Given the description of an element on the screen output the (x, y) to click on. 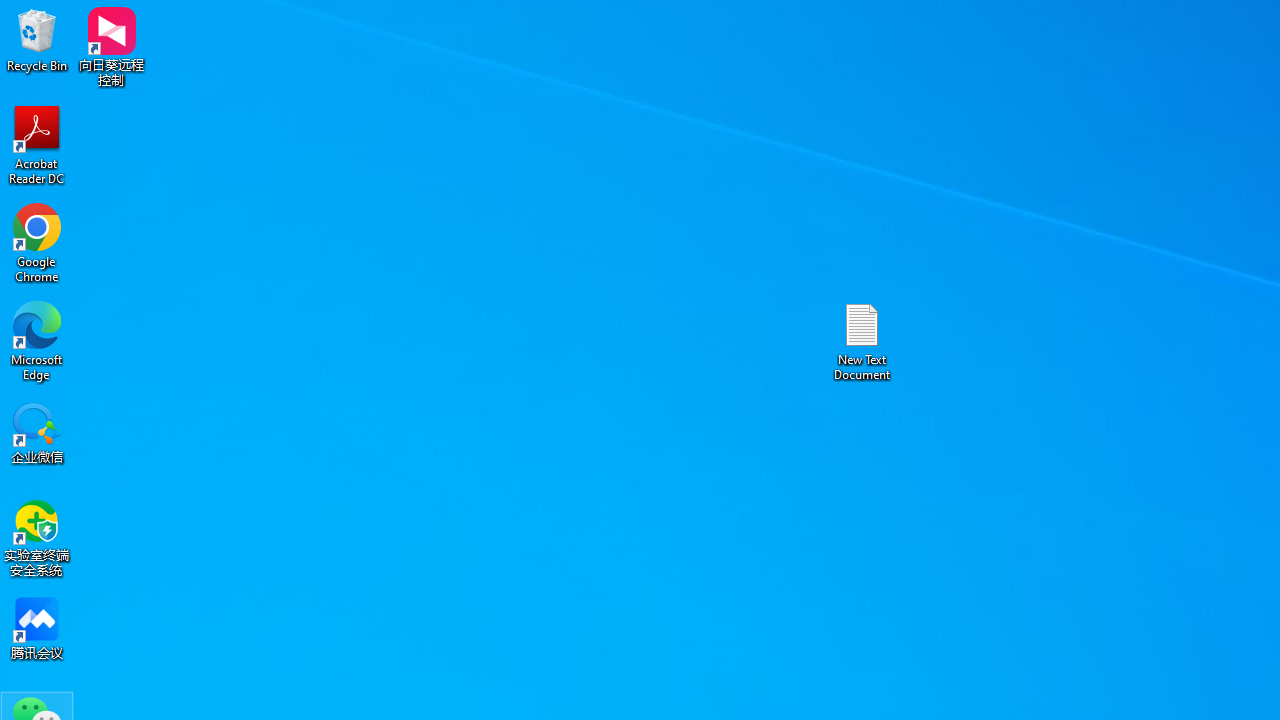
New Text Document (861, 340)
Recycle Bin (37, 39)
Microsoft Edge (37, 340)
Google Chrome (37, 242)
Acrobat Reader DC (37, 144)
